Given the description of an element on the screen output the (x, y) to click on. 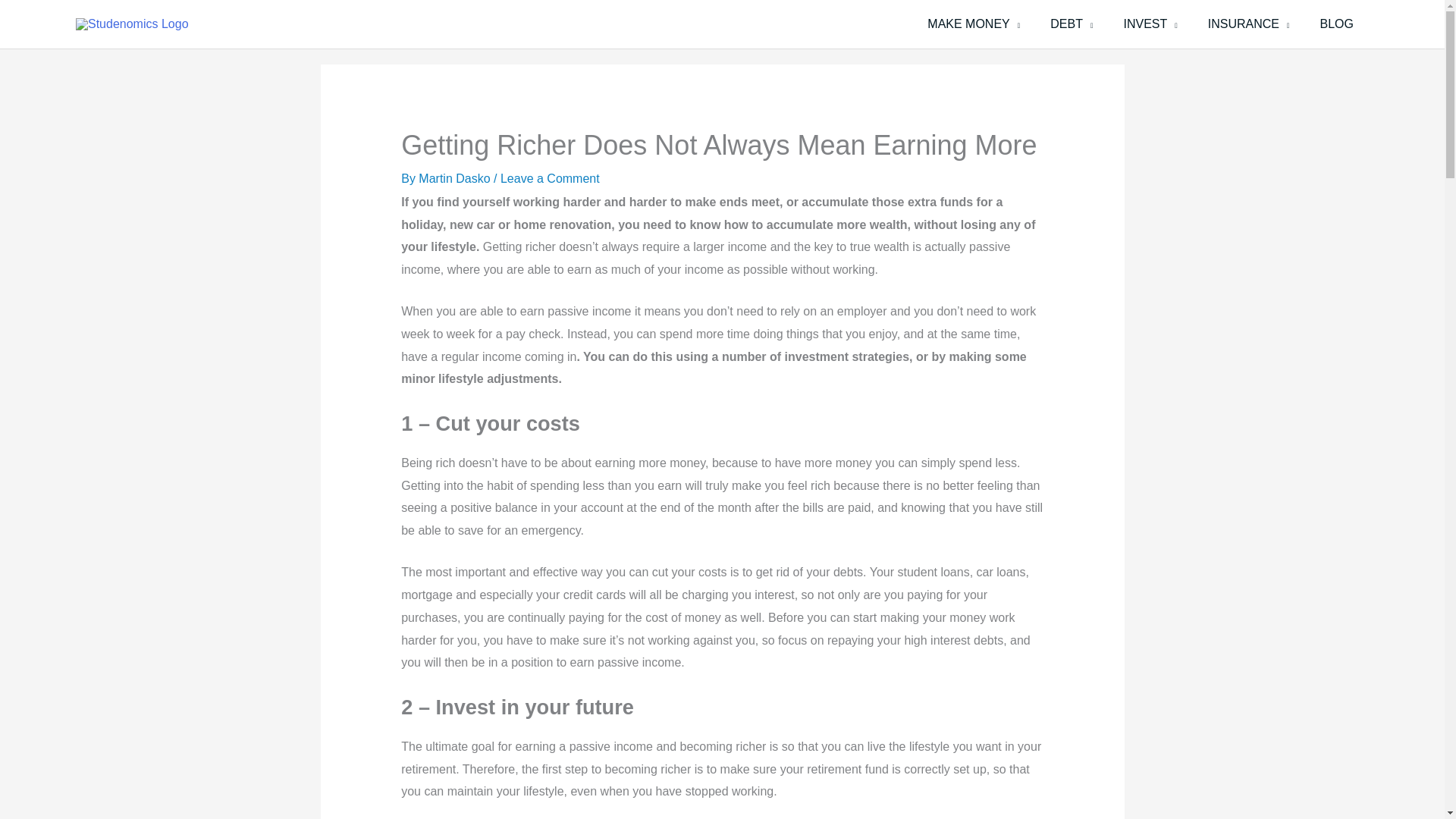
Martin Dasko (456, 178)
View all posts by Martin Dasko (456, 178)
INSURANCE (1248, 24)
BLOG (1336, 24)
INVEST (1150, 24)
DEBT (1071, 24)
MAKE MONEY (973, 24)
Leave a Comment (549, 178)
